Given the description of an element on the screen output the (x, y) to click on. 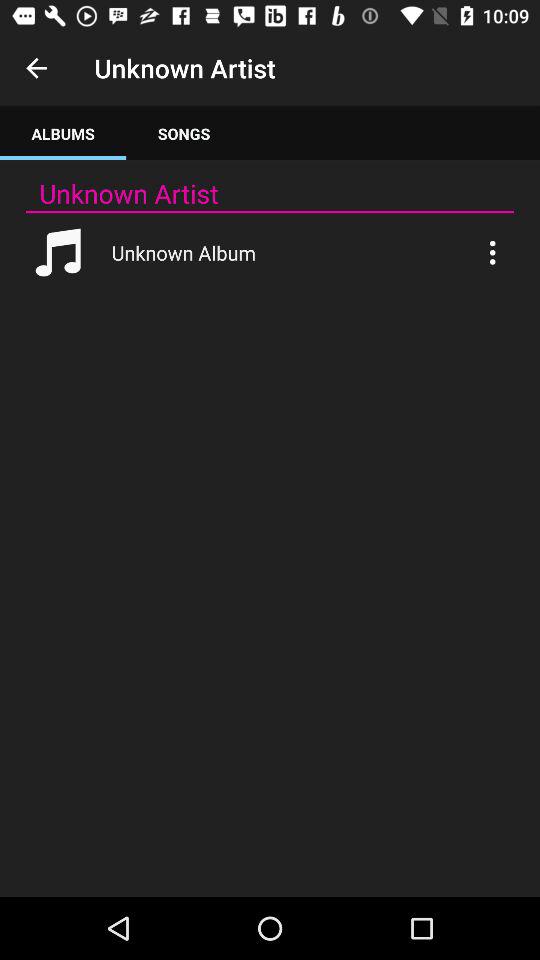
go to the songs tab (183, 133)
select the  music symbol (58, 252)
select the three dot icon from top right (492, 252)
click on the more options beside unknown album (492, 252)
